Given the description of an element on the screen output the (x, y) to click on. 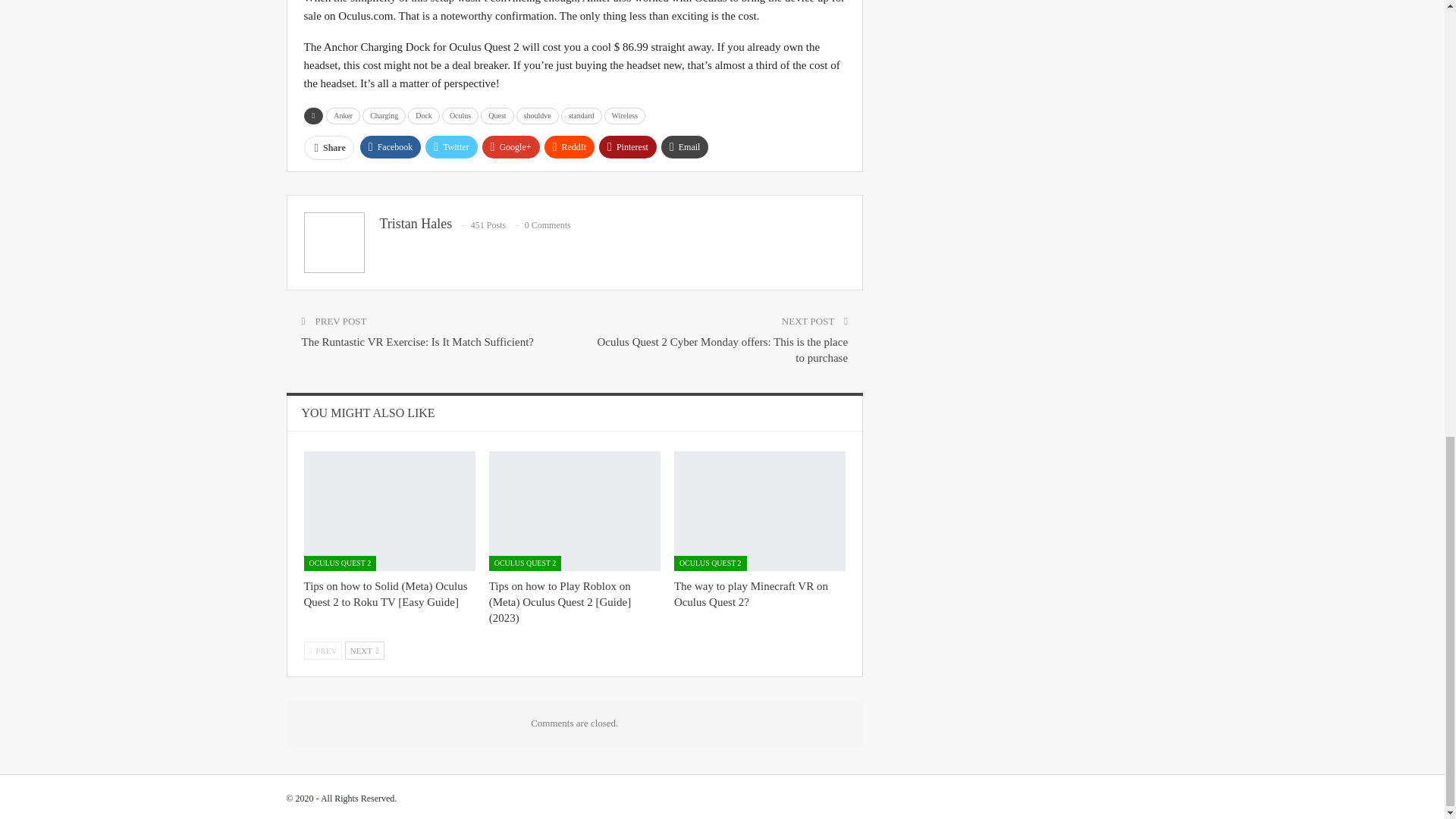
standard (581, 115)
Anker (342, 115)
Email (685, 146)
Pinterest (627, 146)
Quest (496, 115)
Charging (384, 115)
Previous (322, 650)
Twitter (451, 146)
ReddIt (569, 146)
The way to play Minecraft VR on Oculus Quest 2? (759, 510)
Oculus (460, 115)
shouldve (537, 115)
The way to play Minecraft VR on Oculus Quest 2? (751, 593)
Facebook (390, 146)
Wireless (625, 115)
